Given the description of an element on the screen output the (x, y) to click on. 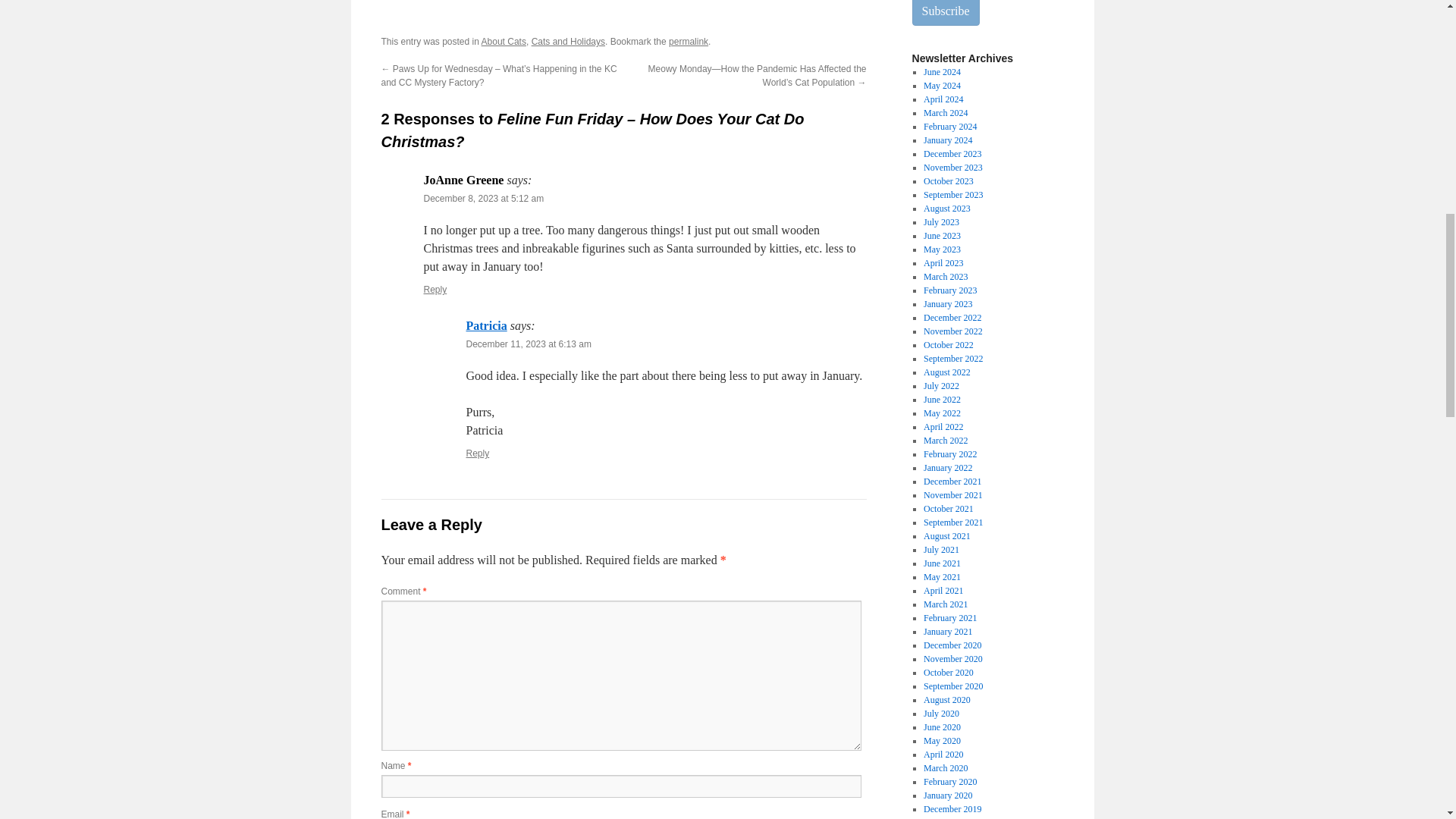
March 2023 (945, 276)
May 2024 (941, 85)
permalink (687, 41)
December 2023 (952, 153)
September 2023 (952, 194)
February 2024 (949, 126)
April 2023 (942, 262)
Subscribe (944, 12)
December 8, 2023 at 5:12 am (483, 198)
About Cats (503, 41)
